Given the description of an element on the screen output the (x, y) to click on. 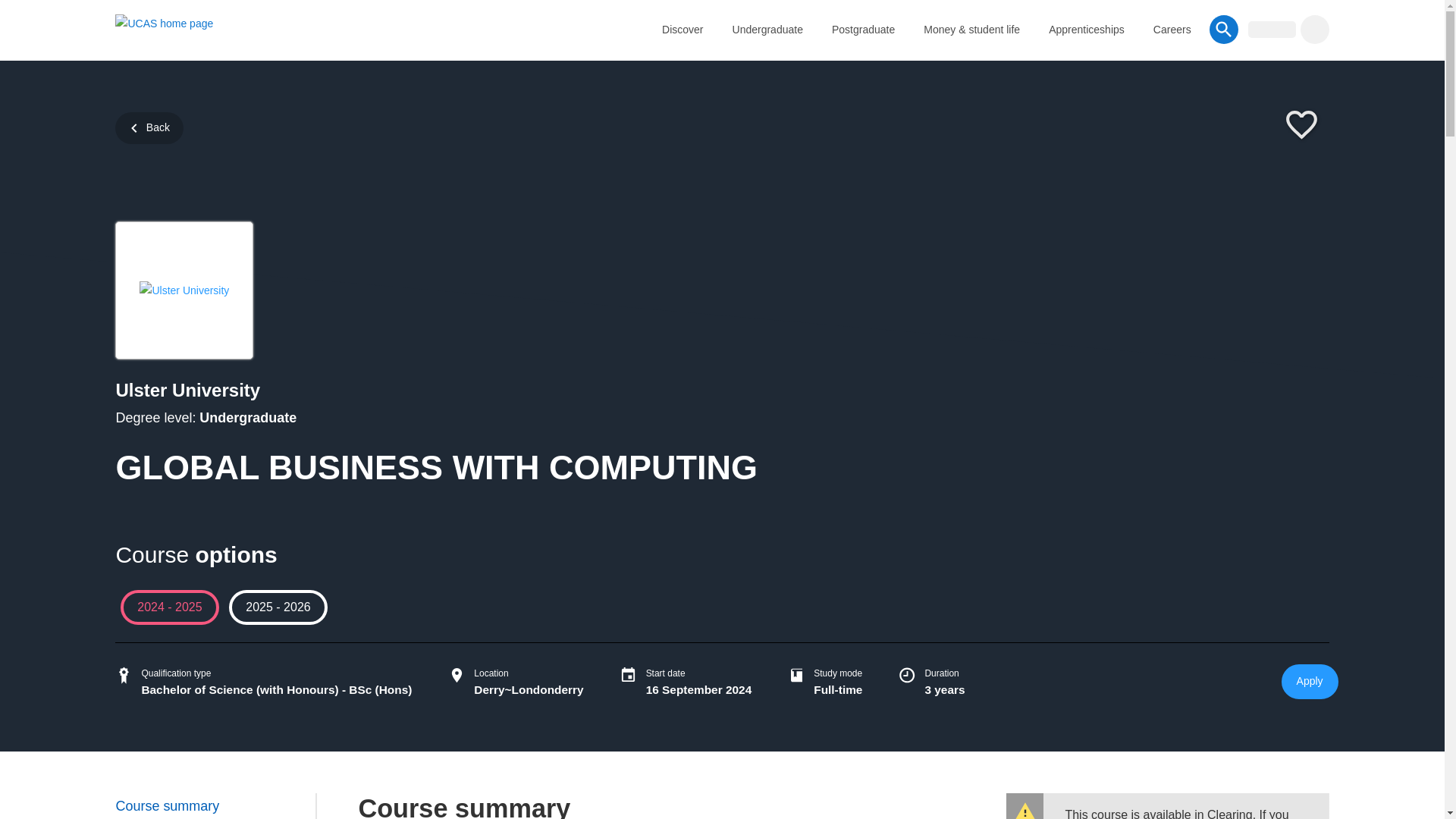
Discover (682, 29)
Undergraduate (767, 29)
Add option to favourites (1301, 125)
Back to previous page (149, 128)
